Given the description of an element on the screen output the (x, y) to click on. 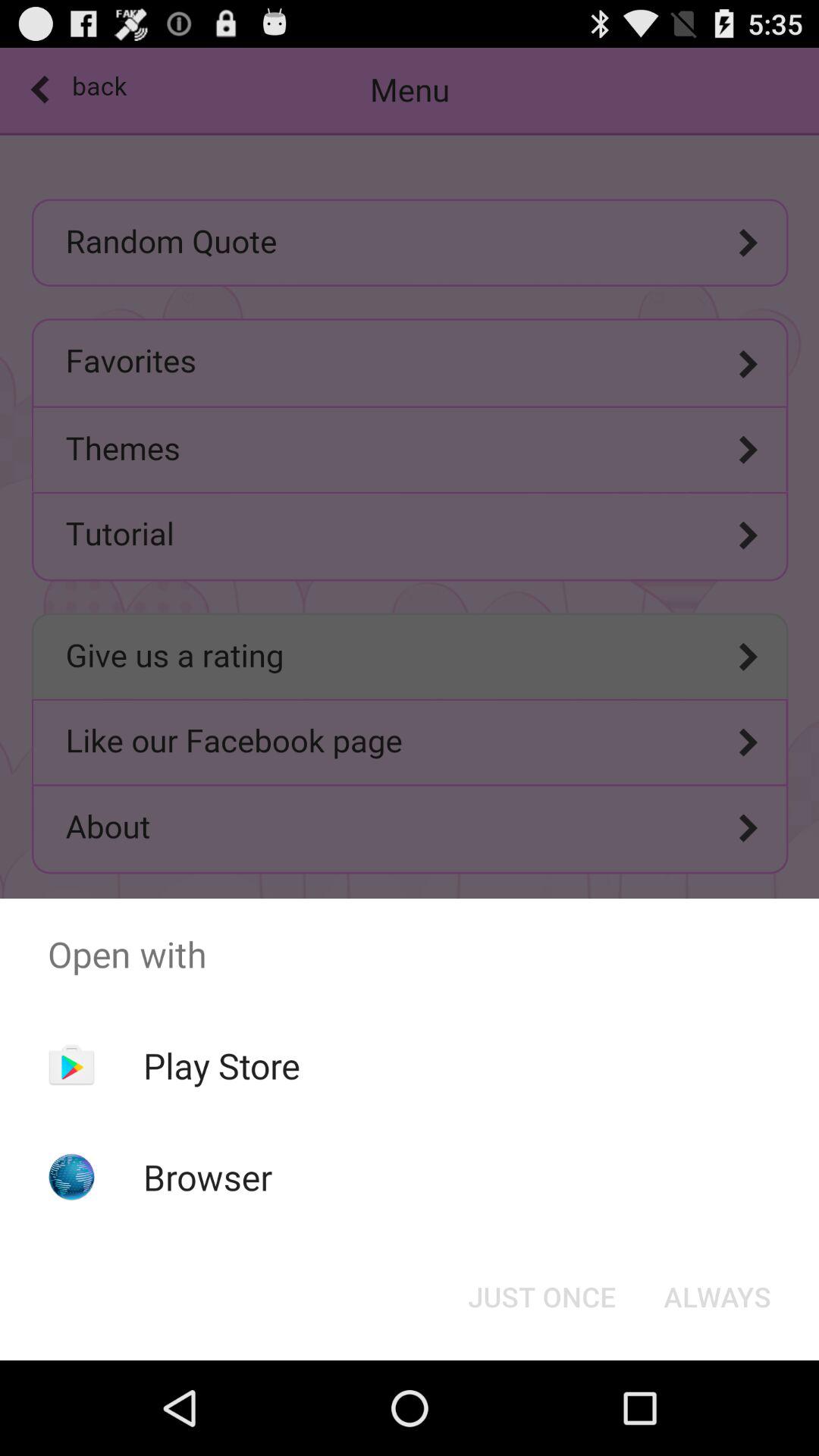
tap the button at the bottom (541, 1296)
